Given the description of an element on the screen output the (x, y) to click on. 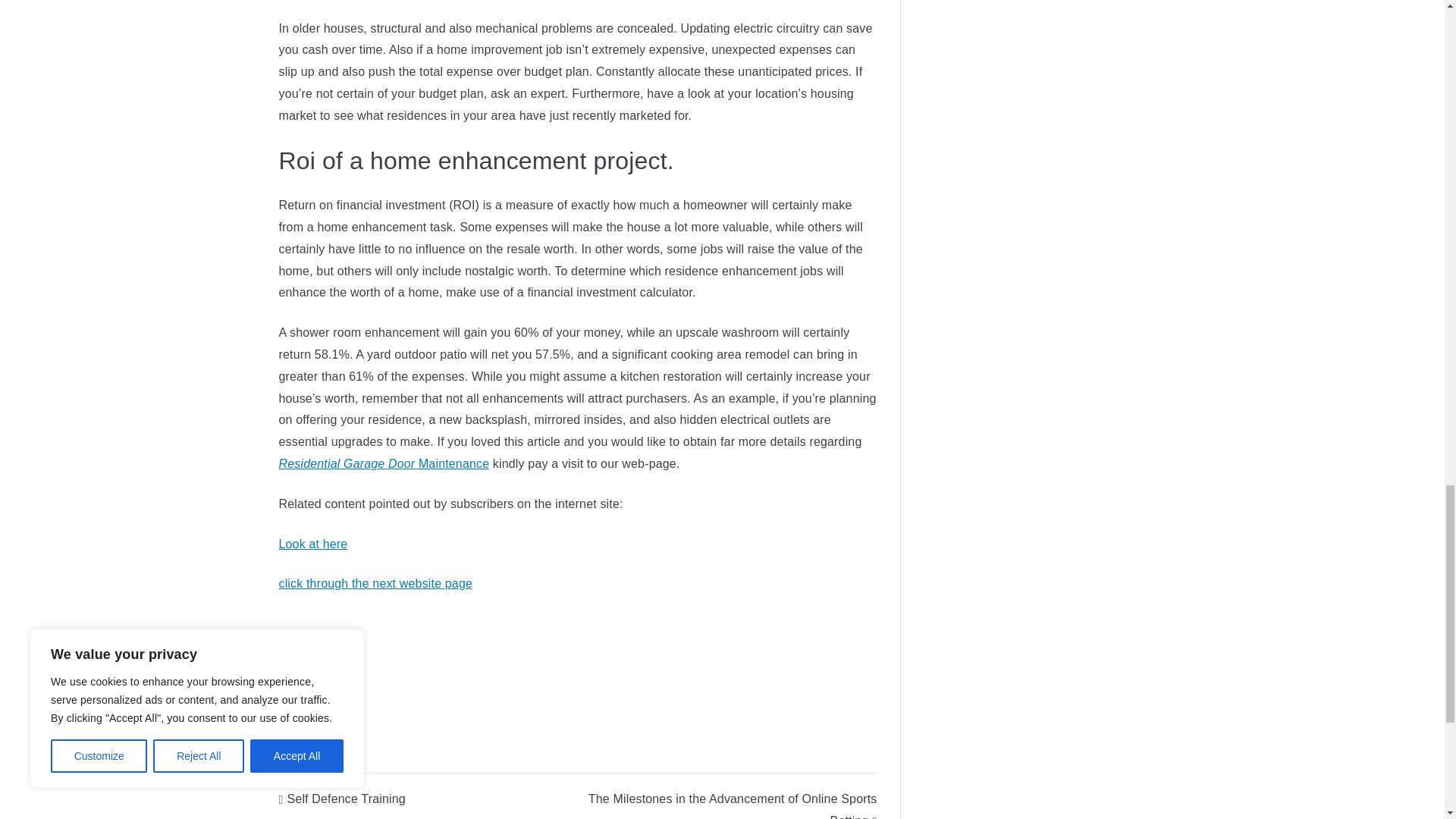
The Milestones in the Advancement of Online Sports Betting (732, 805)
Residential Garage Door Maintenance (384, 463)
Self Defence Training (342, 798)
Look at here (313, 543)
click through the next website page (376, 583)
